Given the description of an element on the screen output the (x, y) to click on. 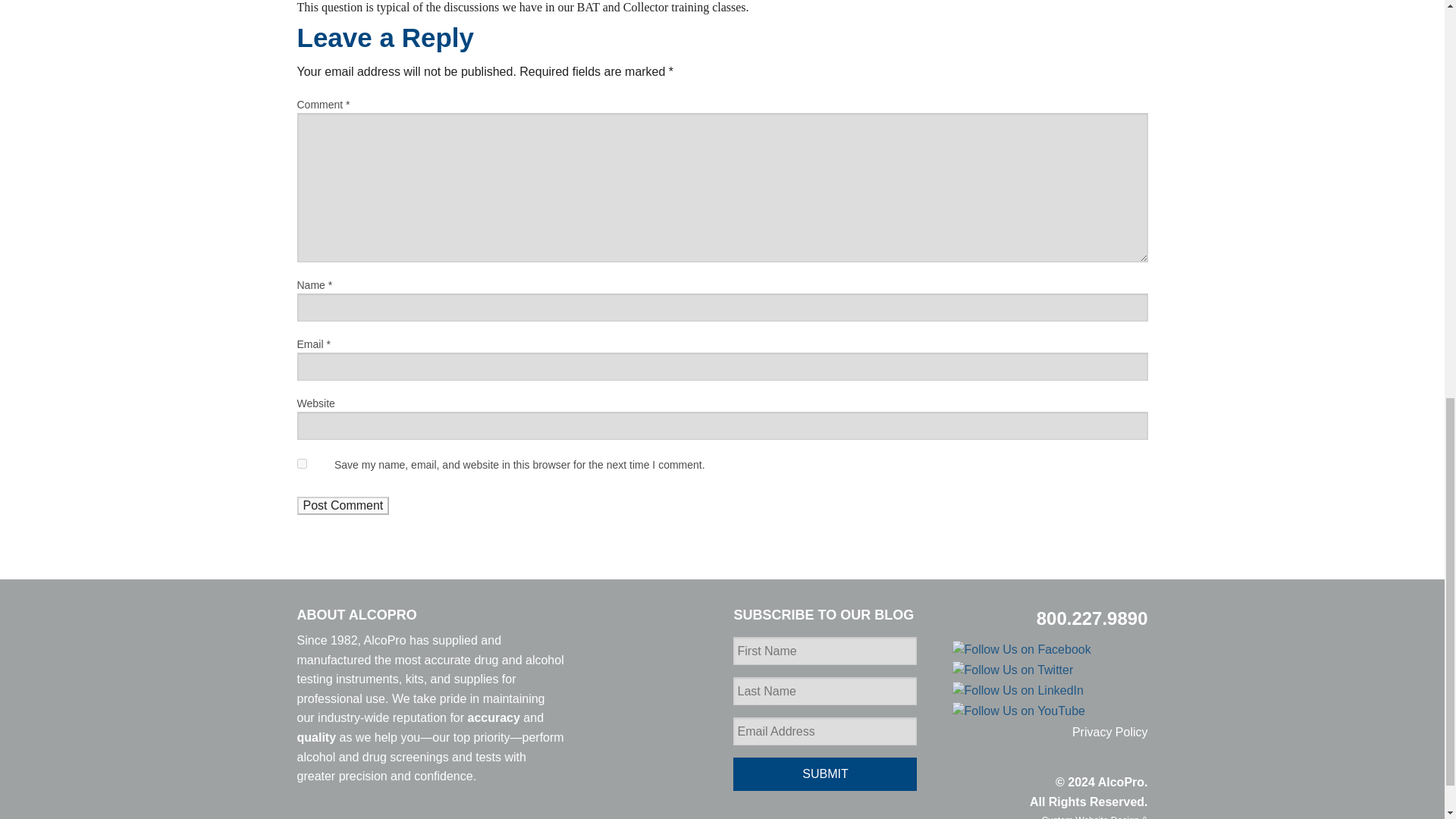
Post Comment (343, 505)
Submit (825, 774)
yes (302, 463)
